Given the description of an element on the screen output the (x, y) to click on. 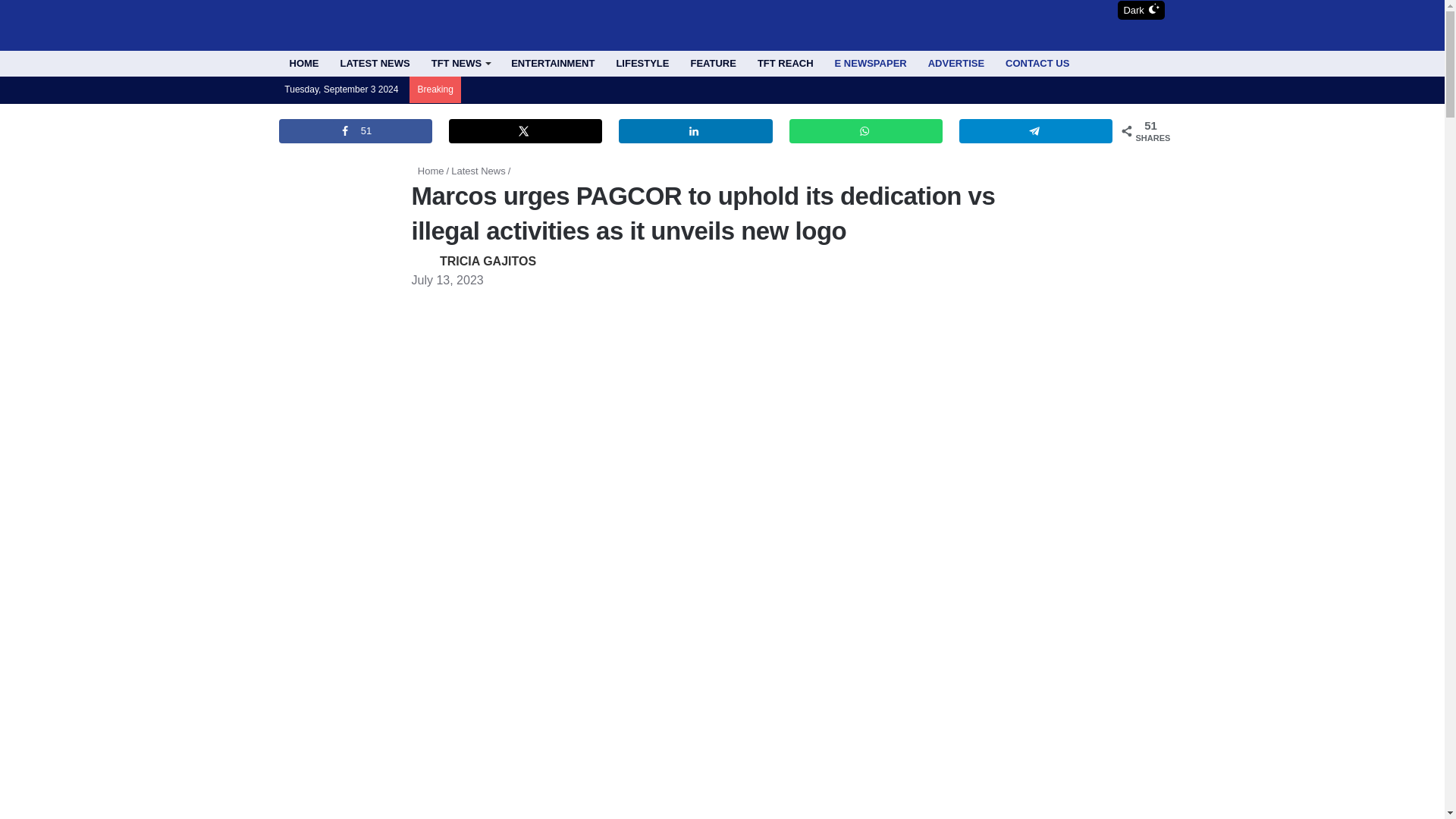
TFT NEWS (460, 63)
TFT REACH (785, 63)
Share on Facebook (355, 130)
CONTACT US (1037, 63)
51 (355, 130)
LIFESTYLE (642, 63)
Share on X (525, 130)
ENTERTAINMENT (552, 63)
Share on WhatsApp (865, 130)
Share on LinkedIn (694, 130)
